Given the description of an element on the screen output the (x, y) to click on. 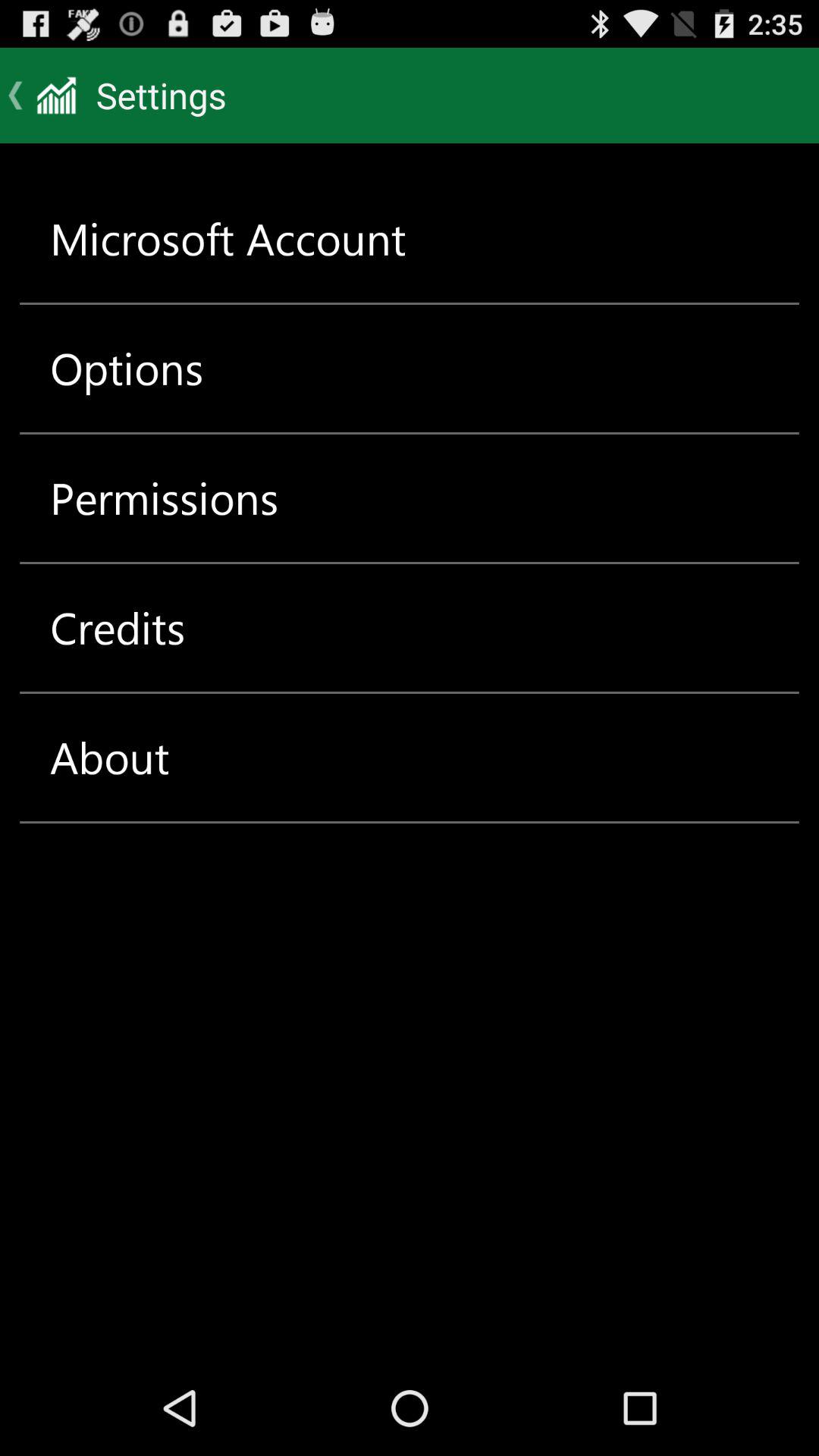
open item below microsoft account icon (126, 368)
